Given the description of an element on the screen output the (x, y) to click on. 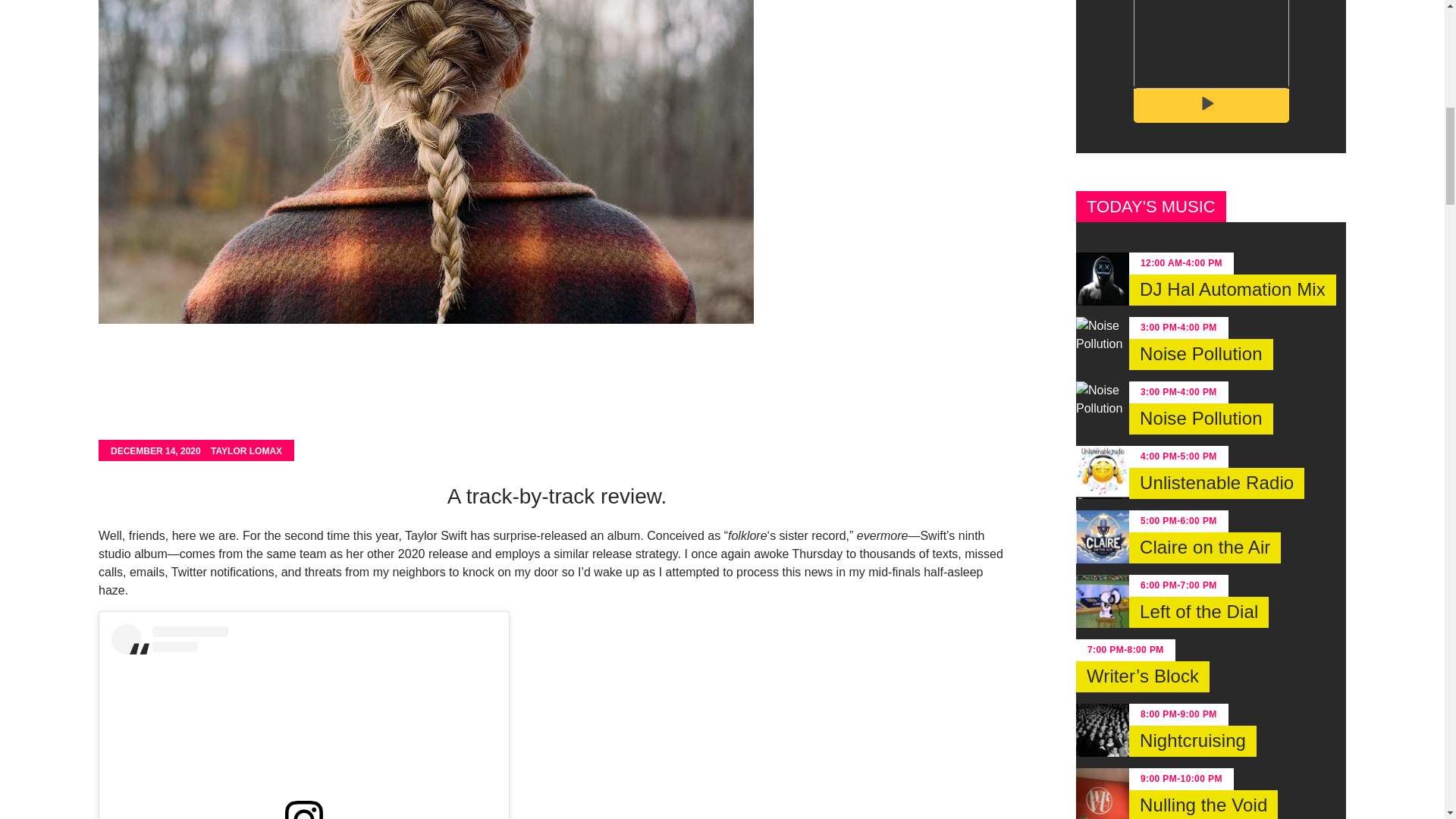
Nightcruising (1192, 740)
TAYLOR LOMAX (246, 450)
Left of the Dial (1198, 612)
DECEMBER 14, 2020 (155, 450)
DJ Hal Automation Mix (1232, 289)
View this post on Instagram (304, 721)
Noise Pollution (1200, 354)
Nulling the Void (1203, 804)
Noise Pollution (1200, 418)
Claire on the Air (1205, 547)
